Given the description of an element on the screen output the (x, y) to click on. 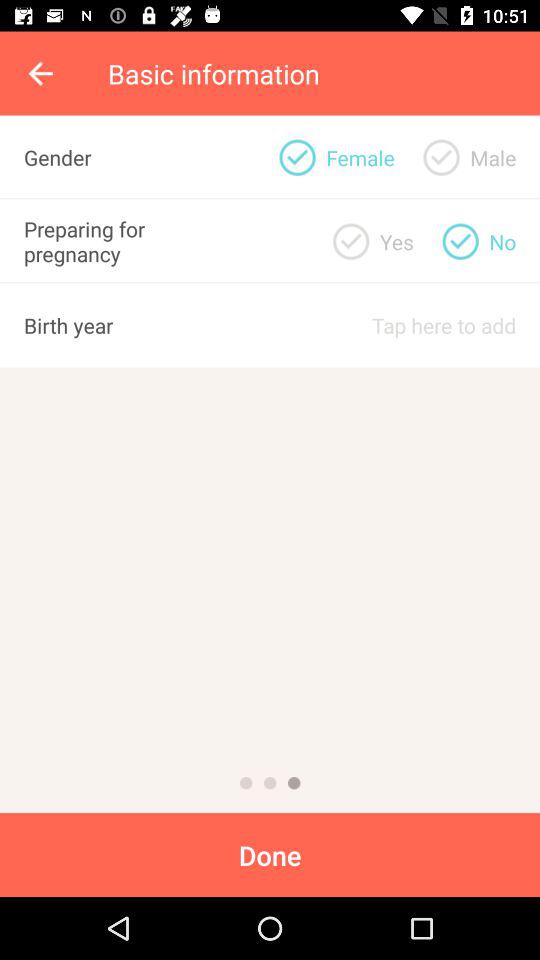
turn on the item next to the yes item (297, 157)
